Given the description of an element on the screen output the (x, y) to click on. 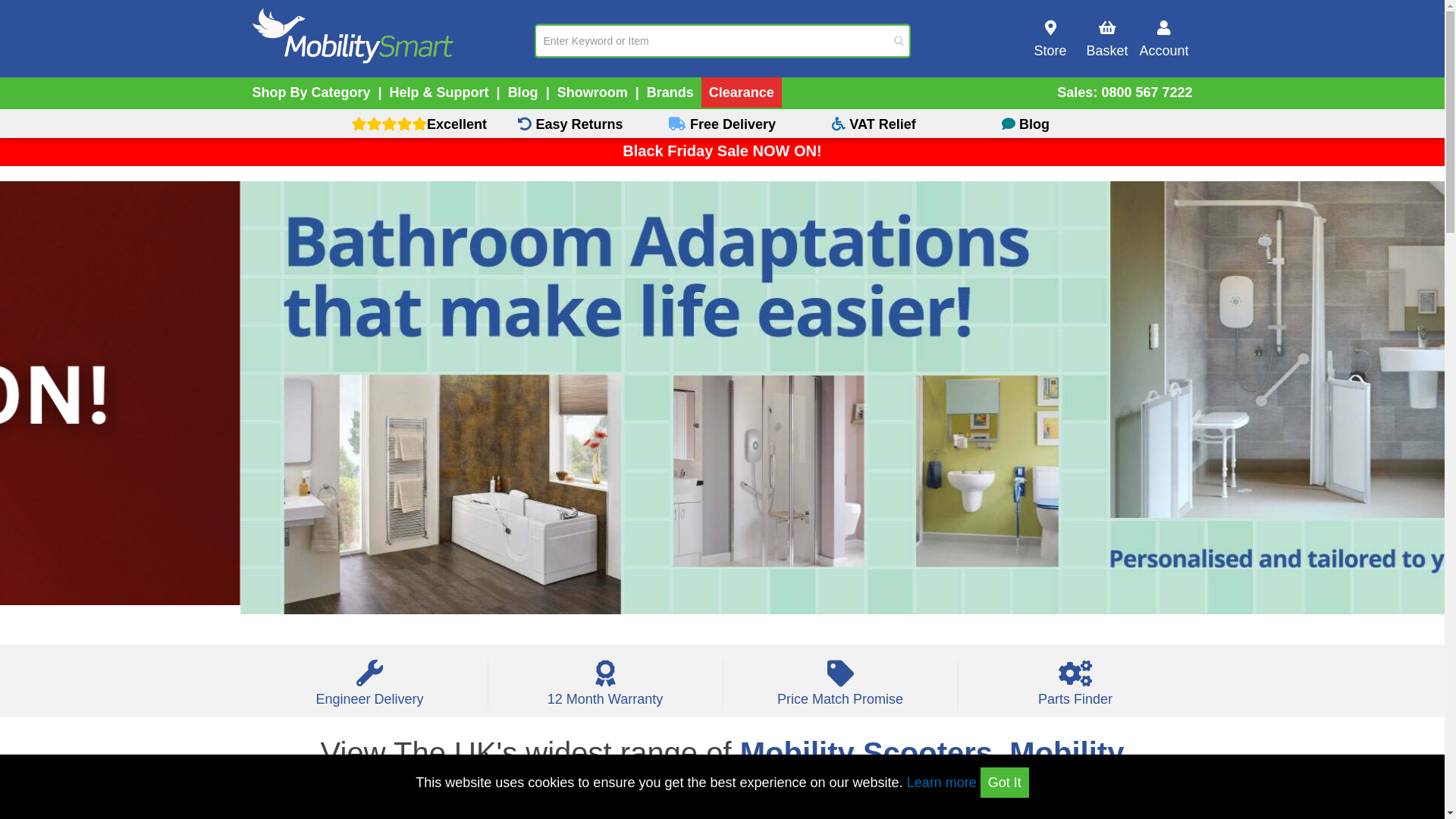
Basket Element type: text (1106, 38)
Account Element type: text (1163, 38)
Learn more Element type: text (941, 782)
VAT Relief Element type: text (873, 123)
Showroom Element type: text (592, 92)
Mobility Smart Element type: hover (351, 36)
Got It Element type: text (1004, 782)
Black Friday Sale NOW ON! Element type: text (721, 150)
Brands Element type: text (669, 92)
Excellent Element type: text (418, 123)
Engineer Delivery Element type: text (368, 690)
Price Match Promise Element type: text (840, 690)
Free Delivery Element type: text (721, 123)
Blog Element type: text (523, 92)
Easy Returns Element type: text (570, 123)
12 Month Warranty Element type: text (605, 690)
Help & Support Element type: text (439, 92)
Search Element type: hover (898, 40)
Parts Finder Element type: text (1075, 690)
Blog Element type: text (1025, 123)
Clearance Element type: text (741, 92)
Store Element type: text (1050, 38)
